Given the description of an element on the screen output the (x, y) to click on. 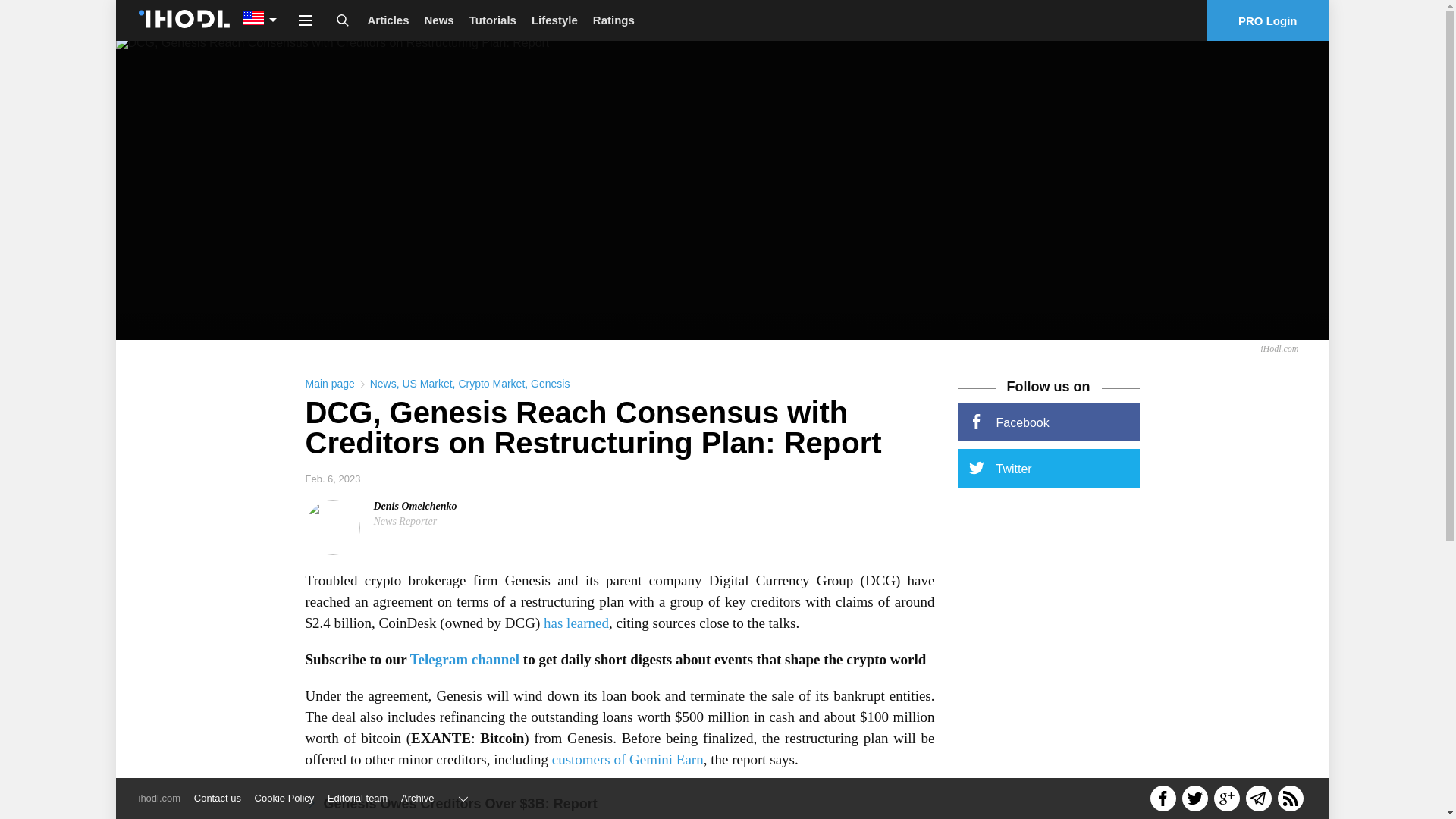
Denis Omelchenko (414, 505)
Lifestyle (554, 20)
Main page (328, 383)
Tutorials (492, 20)
News (382, 383)
Crypto Market (491, 383)
Articles (387, 20)
US Market (426, 383)
Telegram channel (464, 659)
PRO Login (1268, 20)
News (438, 20)
has learned (575, 622)
Ratings (613, 20)
Genesis (550, 383)
News Reporter (404, 521)
